Given the description of an element on the screen output the (x, y) to click on. 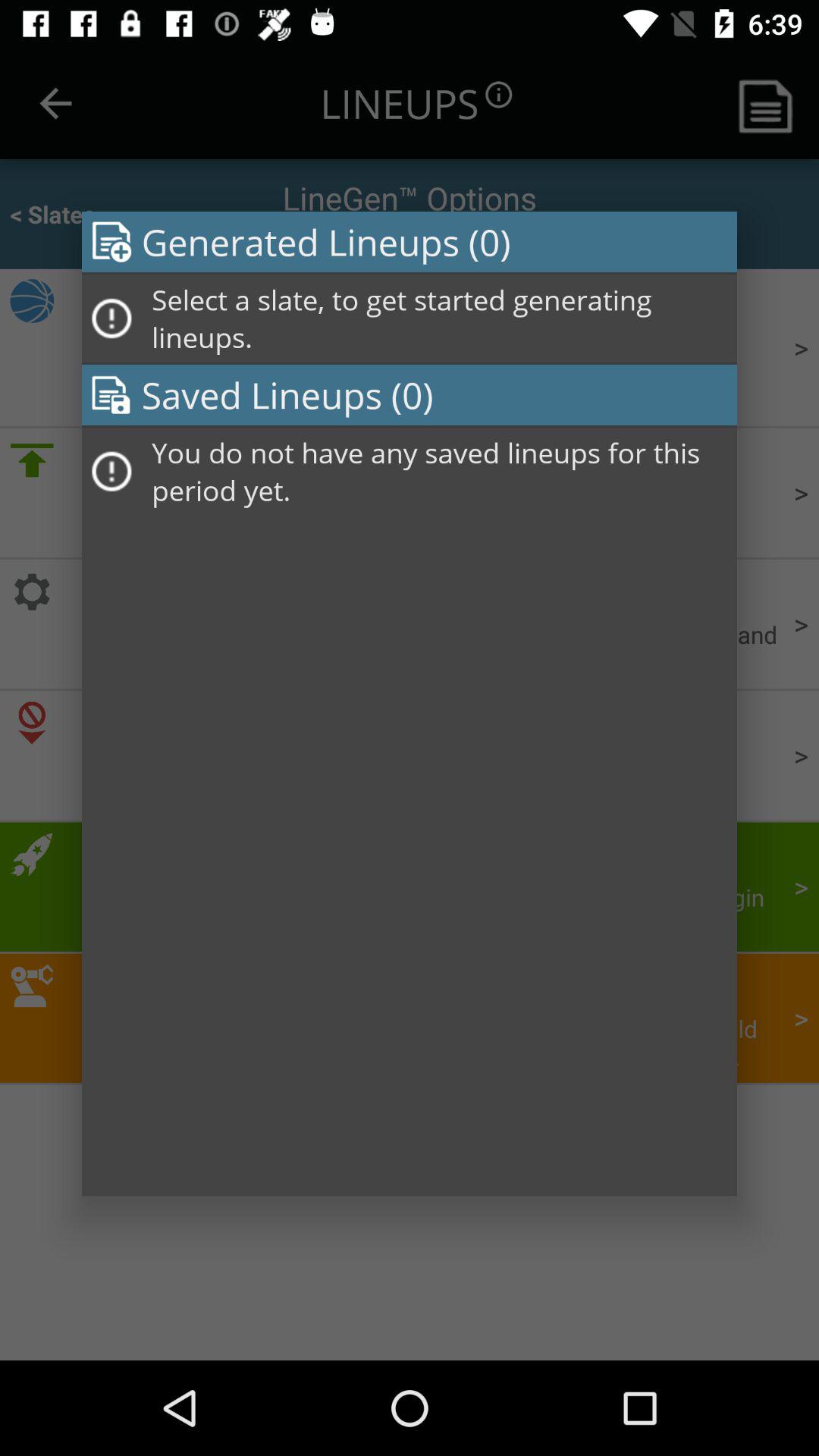
press the you do not item (438, 471)
